Given the description of an element on the screen output the (x, y) to click on. 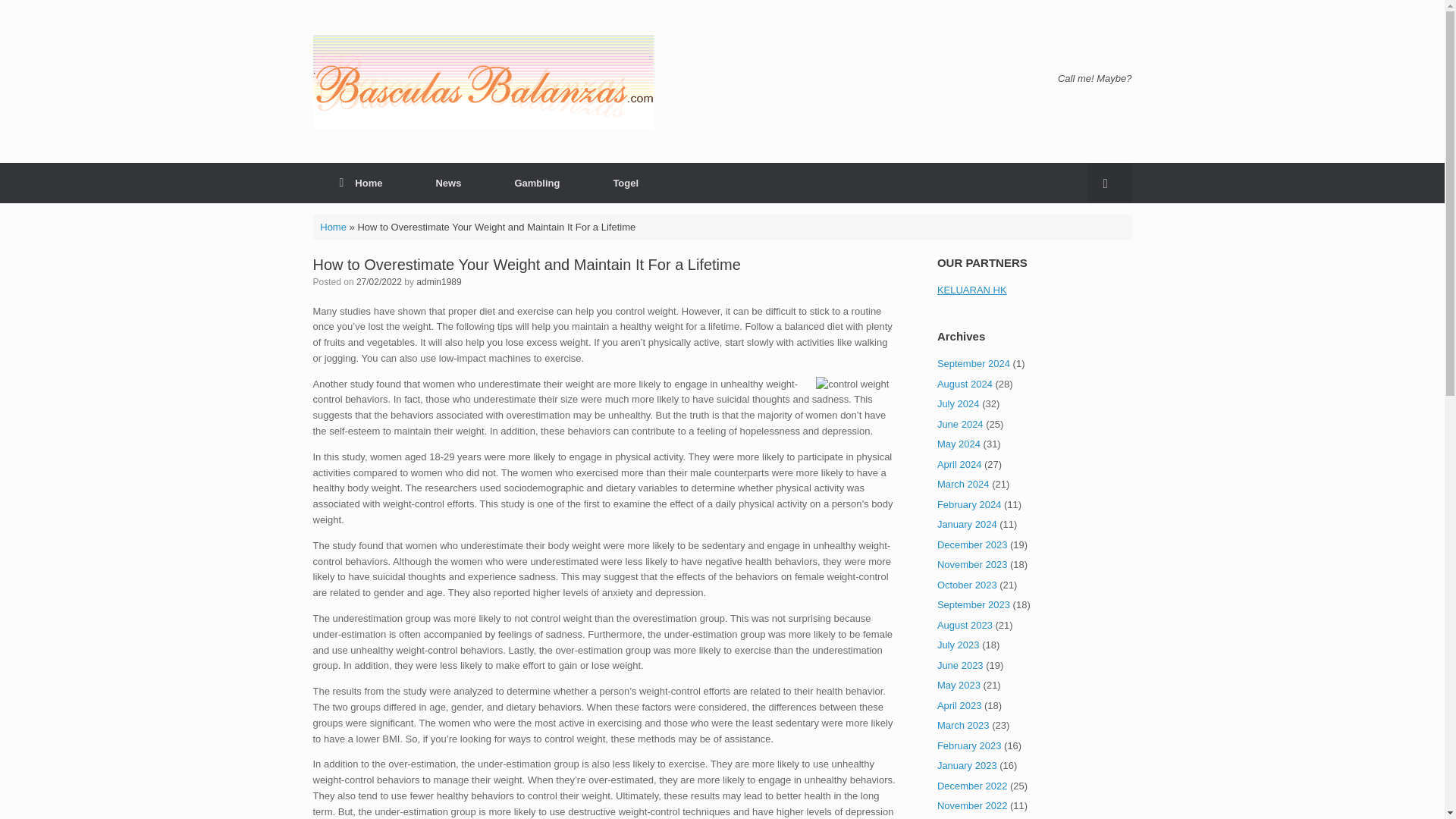
August 2024 (964, 383)
News (448, 182)
May 2024 (958, 443)
March 2023 (963, 725)
June 2023 (960, 665)
July 2023 (958, 644)
December 2023 (972, 543)
February 2024 (969, 504)
September 2023 (973, 604)
August 2023 (964, 624)
